Given the description of an element on the screen output the (x, y) to click on. 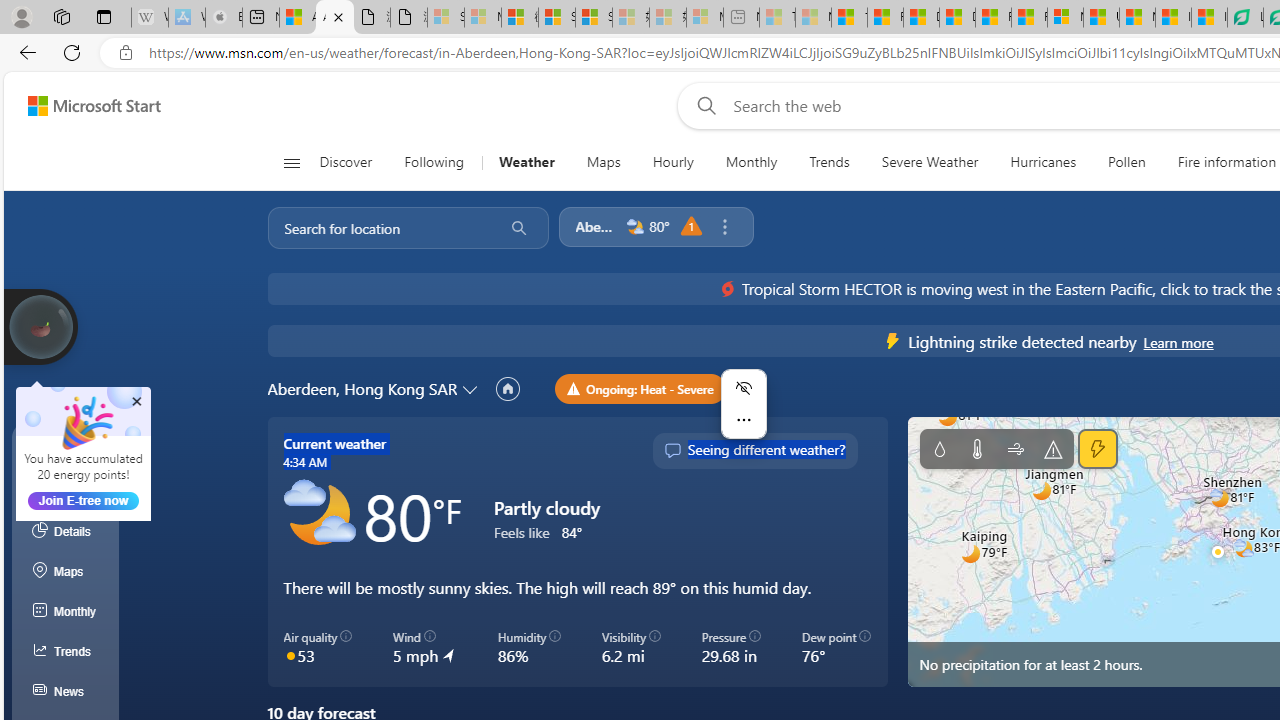
Daily (65, 492)
Severe Weather (929, 162)
Aberdeen (596, 226)
Details (65, 531)
Foo BAR | Trusted Community Engagement and Contributions (1029, 17)
Trends (828, 162)
Ongoing: Heat - Severe (640, 388)
Aberdeen, Hong Kong SAR weather forecast | Microsoft Weather (335, 17)
Aberdeen, Hong Kong SAR (362, 389)
Monthly (751, 162)
